Given the description of an element on the screen output the (x, y) to click on. 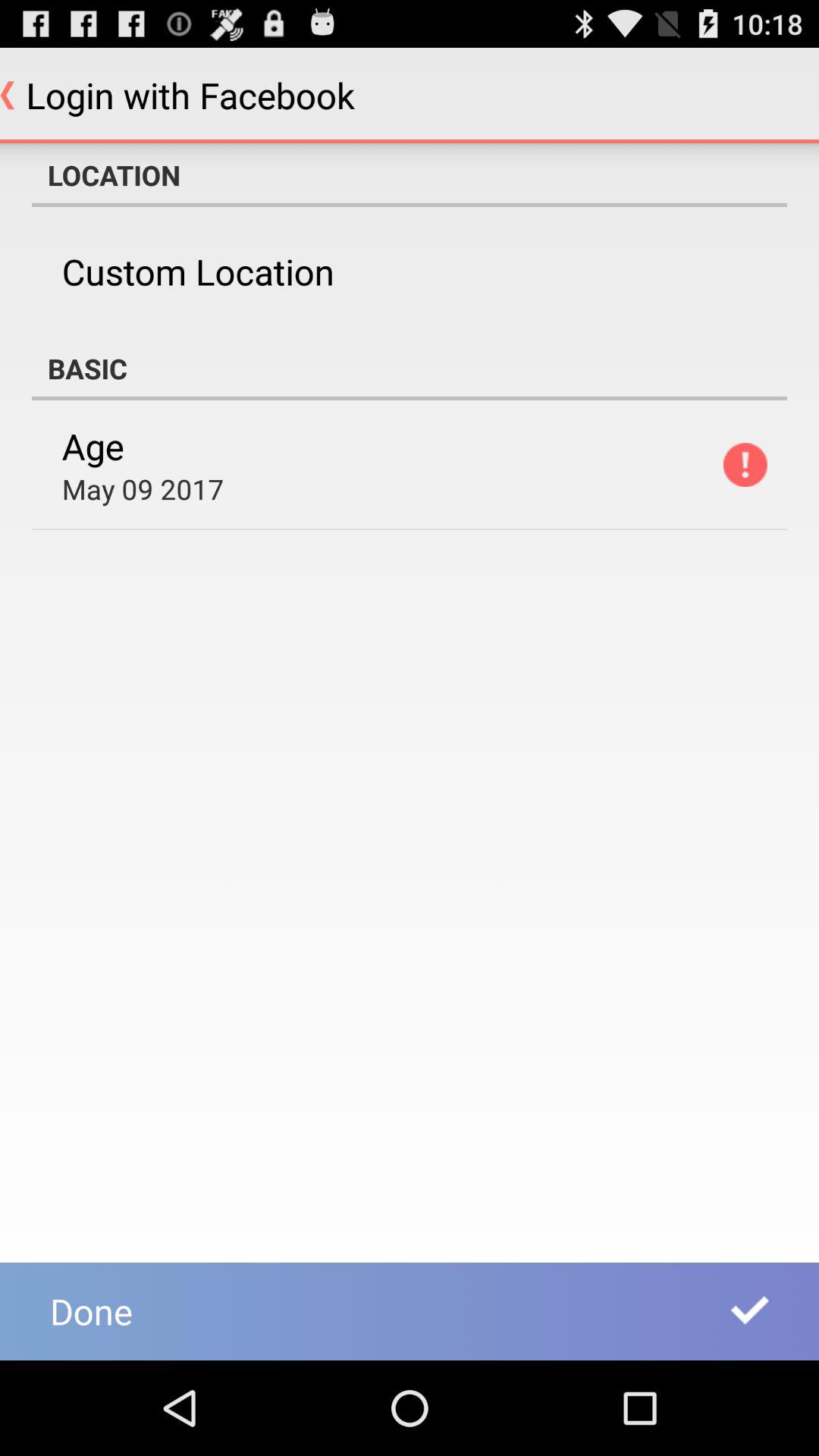
tap the item above basic icon (197, 271)
